Given the description of an element on the screen output the (x, y) to click on. 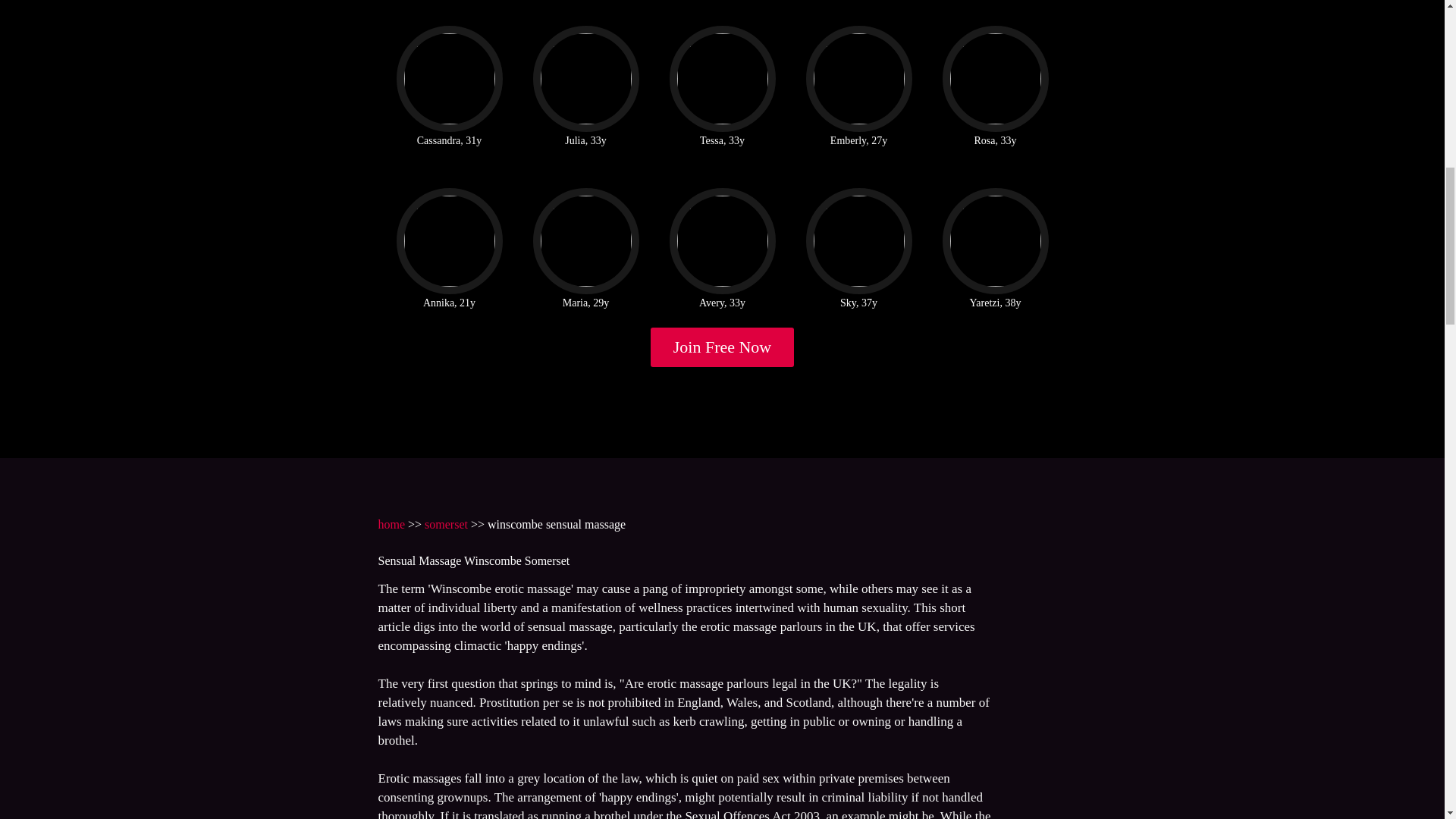
Join (722, 346)
somerset (446, 523)
Join Free Now (722, 346)
home (390, 523)
